Given the description of an element on the screen output the (x, y) to click on. 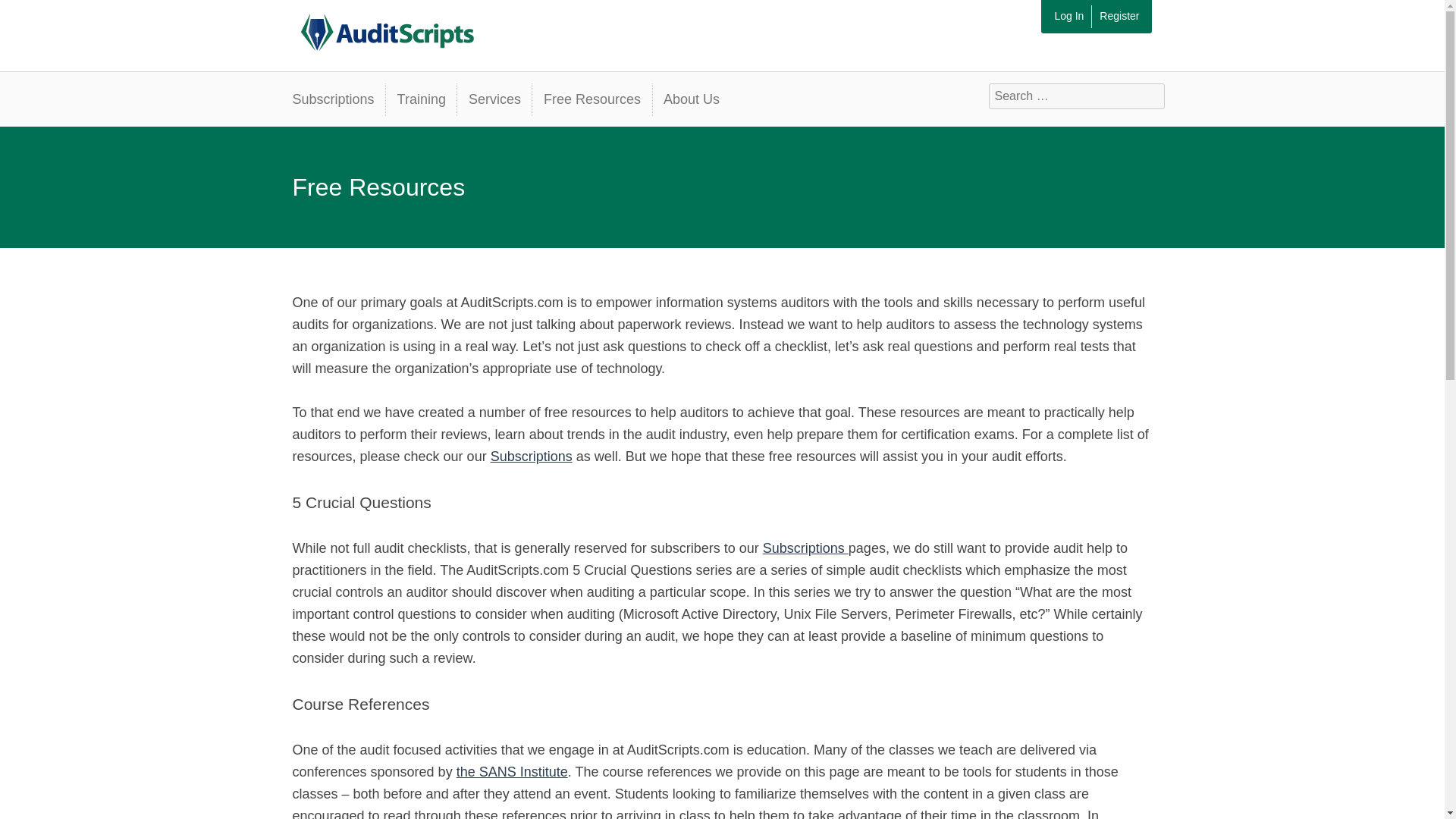
Log In (1068, 15)
AuditScripts.com (383, 26)
Subscriptions (805, 548)
About Us (691, 99)
Subscriptions (338, 99)
Training (421, 99)
Subscriptions (531, 456)
Register (1118, 15)
Subscriptions (531, 456)
Services (494, 99)
